Given the description of an element on the screen output the (x, y) to click on. 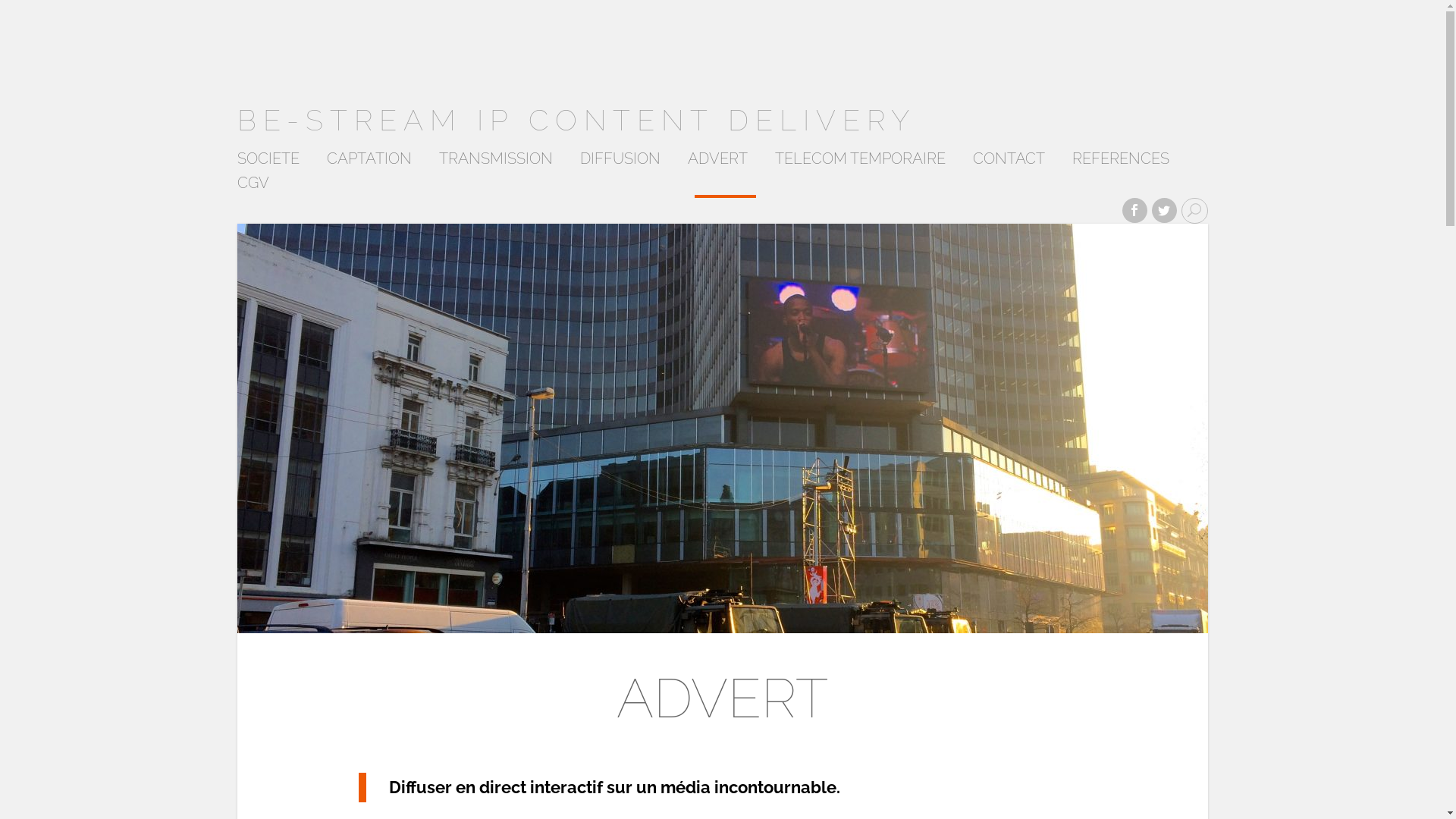
Rechercher Element type: text (33, 8)
DIFFUSION Element type: text (619, 161)
BE-STREAM IP CONTENT DELIVERY Element type: text (575, 120)
TELECOM TEMPORAIRE Element type: text (860, 161)
TRANSMISSION Element type: text (495, 161)
CONTACT Element type: text (1008, 161)
ADVERT Element type: text (716, 161)
CAPTATION Element type: text (368, 161)
CGV Element type: text (252, 186)
SOCIETE Element type: text (267, 161)
REFERENCES Element type: text (1120, 161)
